Given the description of an element on the screen output the (x, y) to click on. 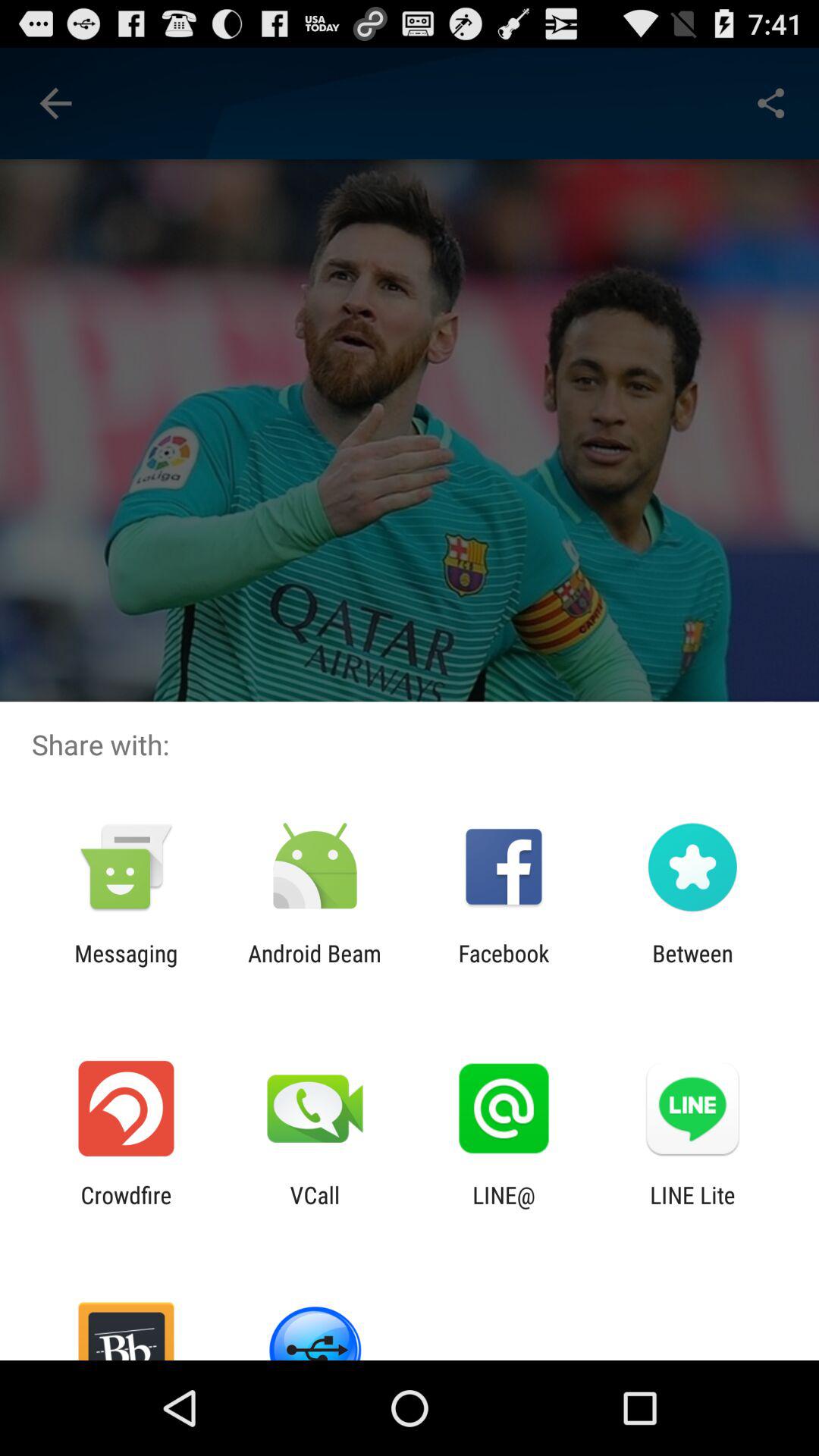
select item next to the facebook icon (692, 966)
